Given the description of an element on the screen output the (x, y) to click on. 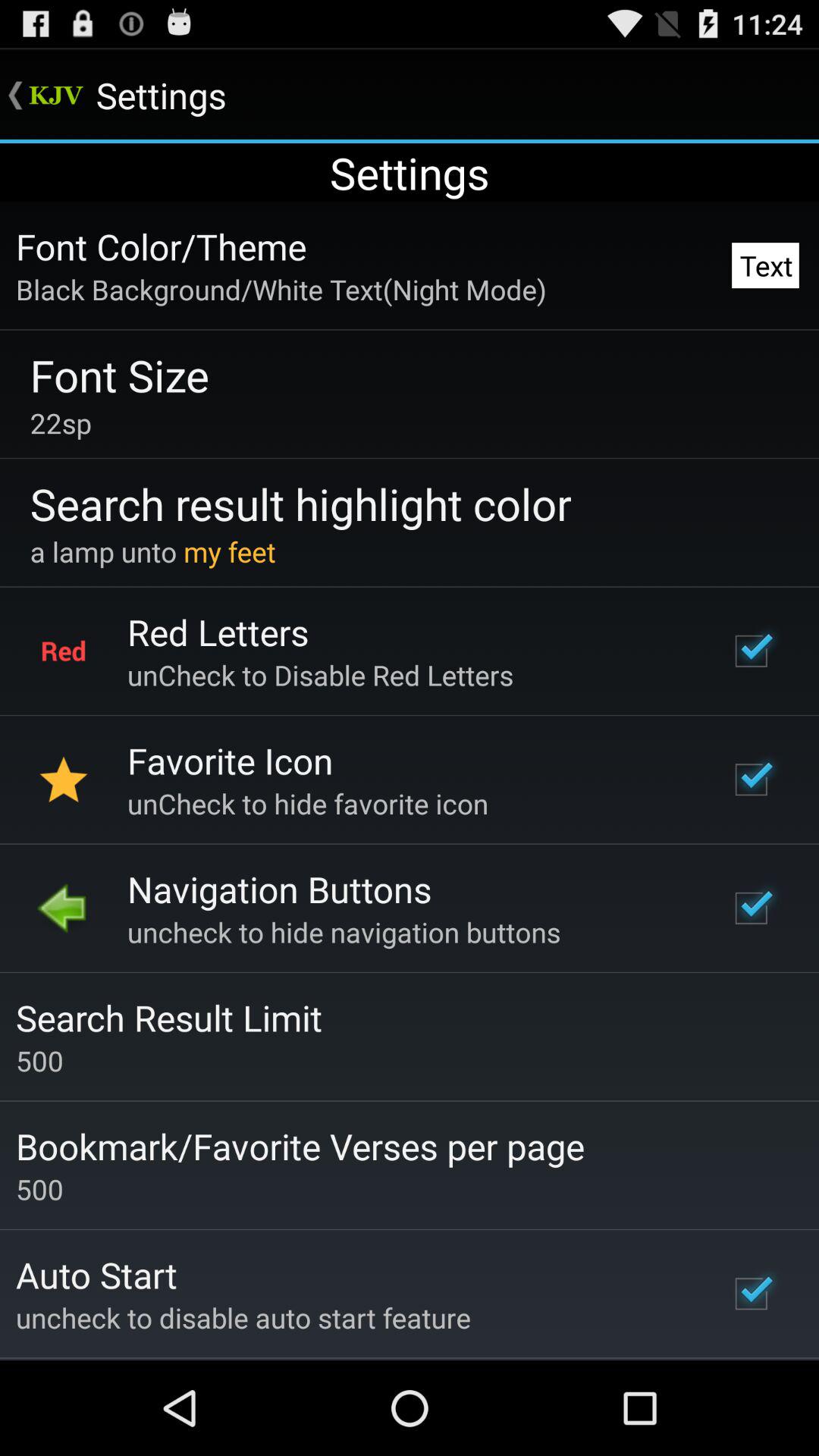
launch the item above the 22sp icon (119, 374)
